Given the description of an element on the screen output the (x, y) to click on. 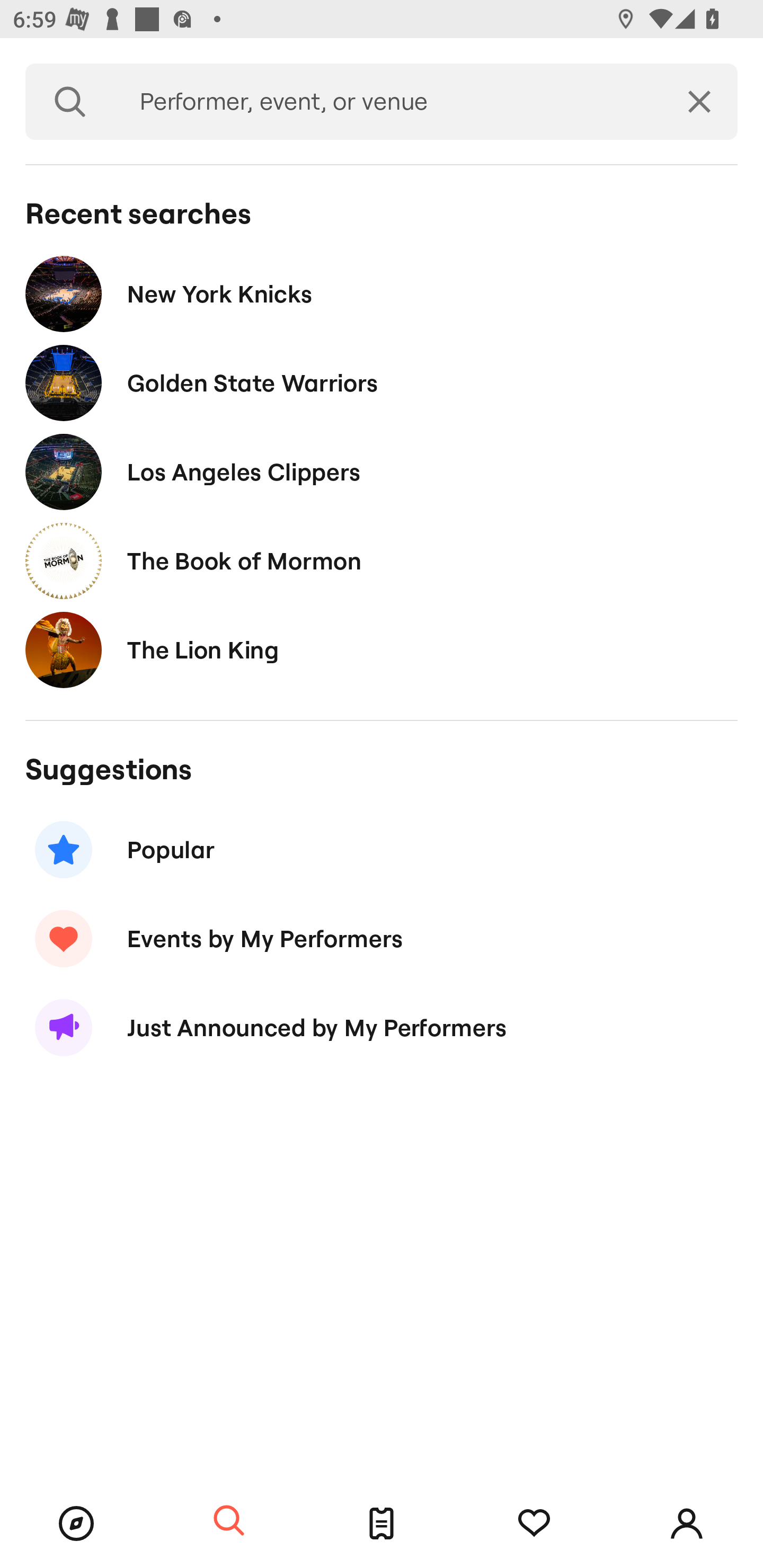
Search (69, 101)
Performer, event, or venue (387, 101)
Clear (699, 101)
New York Knicks (381, 293)
Golden State Warriors (381, 383)
Los Angeles Clippers (381, 471)
The Book of Mormon (381, 560)
The Lion King (381, 649)
Popular (381, 849)
Events by My Performers (381, 938)
Just Announced by My Performers (381, 1027)
Browse (76, 1523)
Search (228, 1521)
Tickets (381, 1523)
Tracking (533, 1523)
Account (686, 1523)
